Given the description of an element on the screen output the (x, y) to click on. 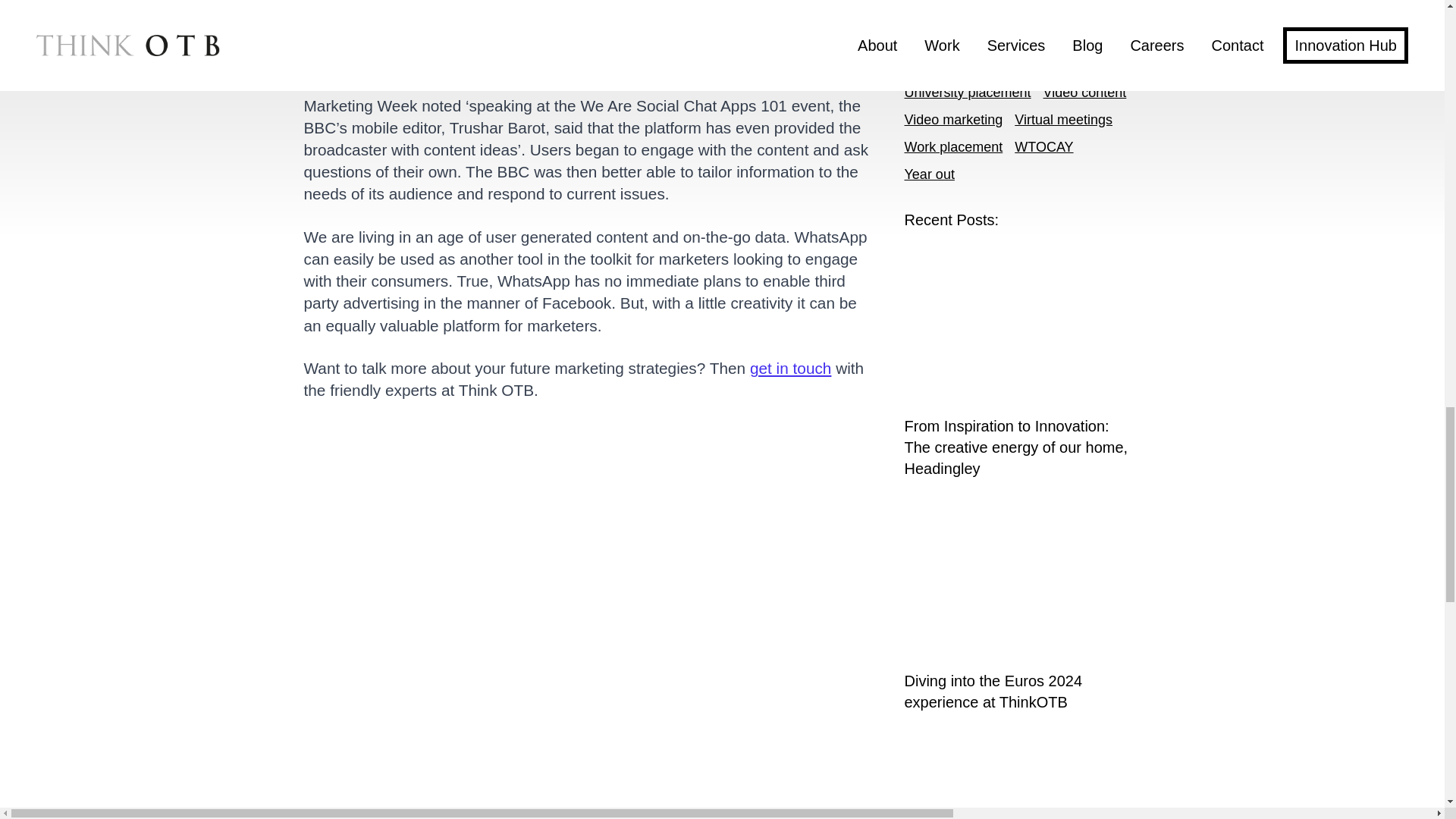
get in touch (792, 367)
Marketing Week (581, 18)
